Given the description of an element on the screen output the (x, y) to click on. 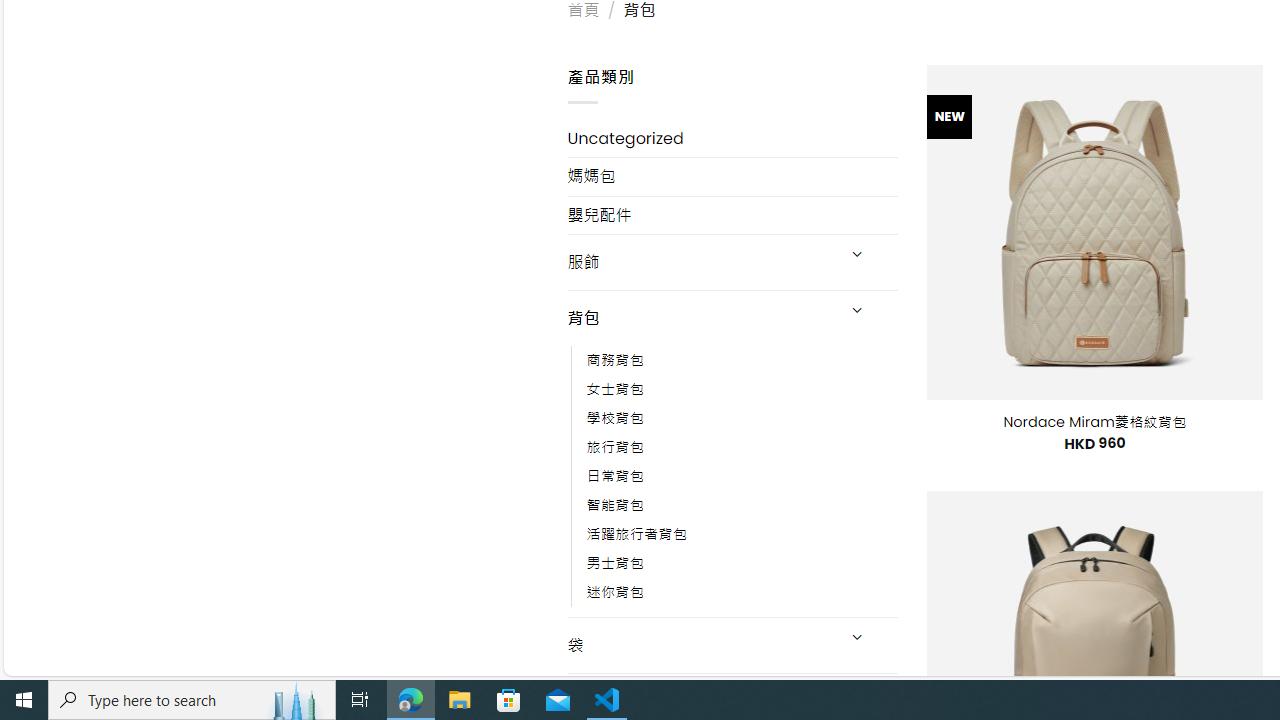
Uncategorized (732, 137)
